Given the description of an element on the screen output the (x, y) to click on. 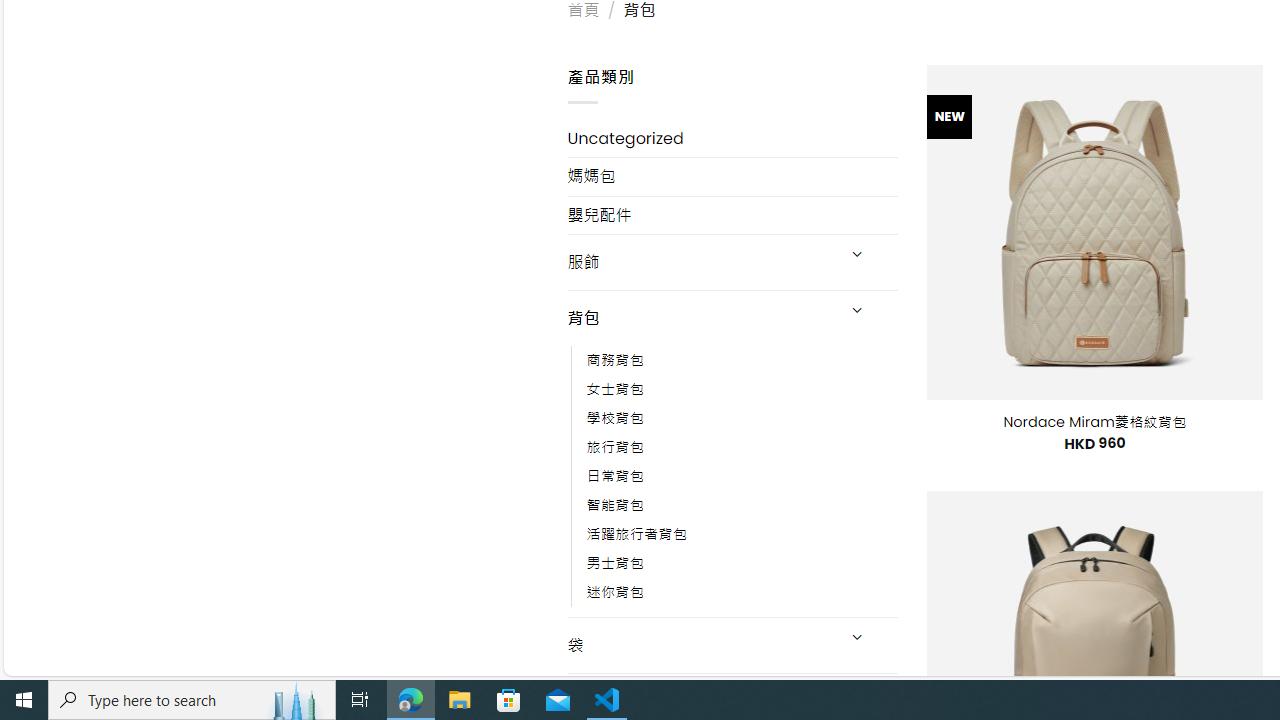
Uncategorized (732, 137)
